Given the description of an element on the screen output the (x, y) to click on. 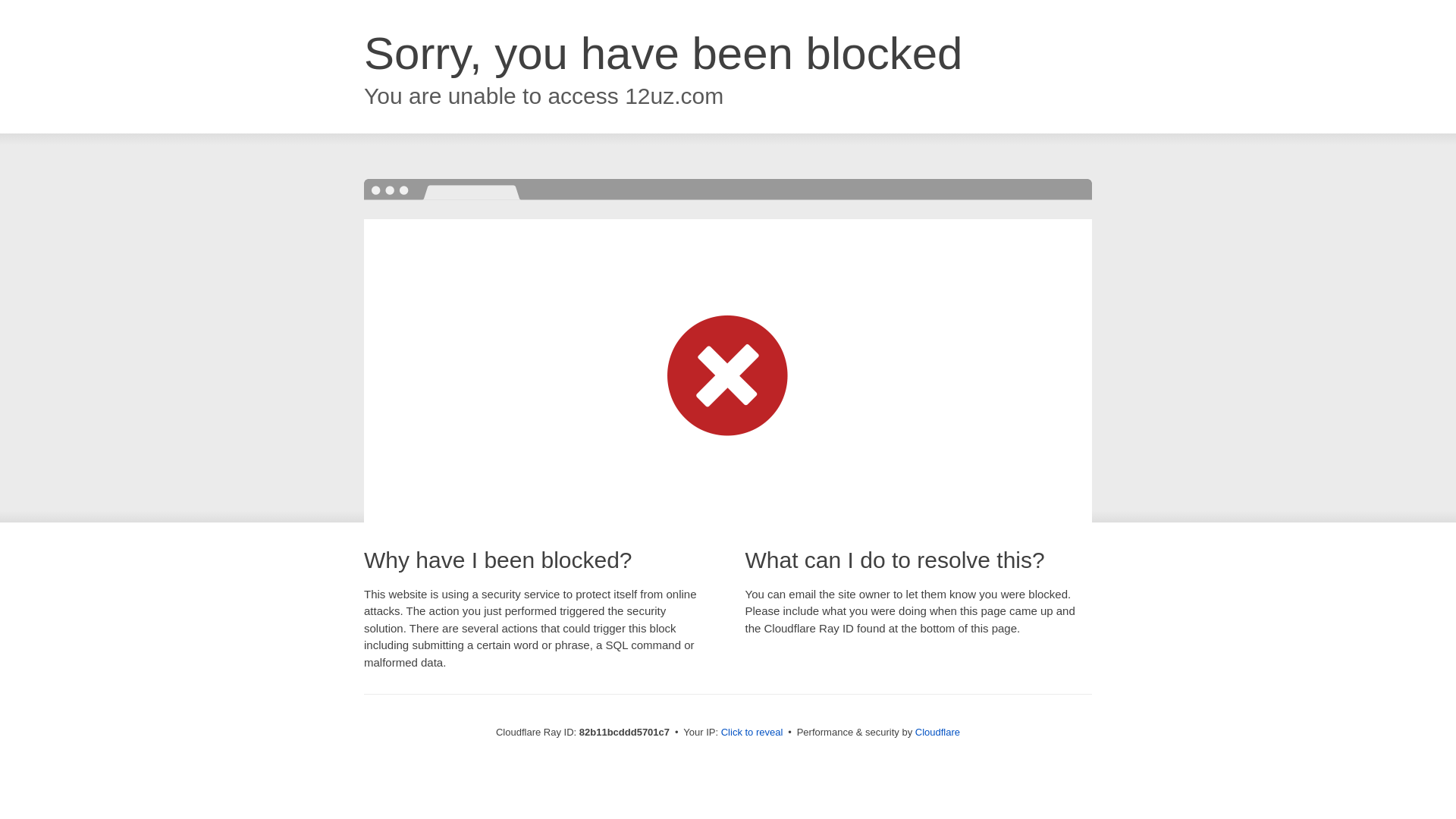
Click to reveal Element type: text (752, 732)
Cloudflare Element type: text (937, 731)
